Given the description of an element on the screen output the (x, y) to click on. 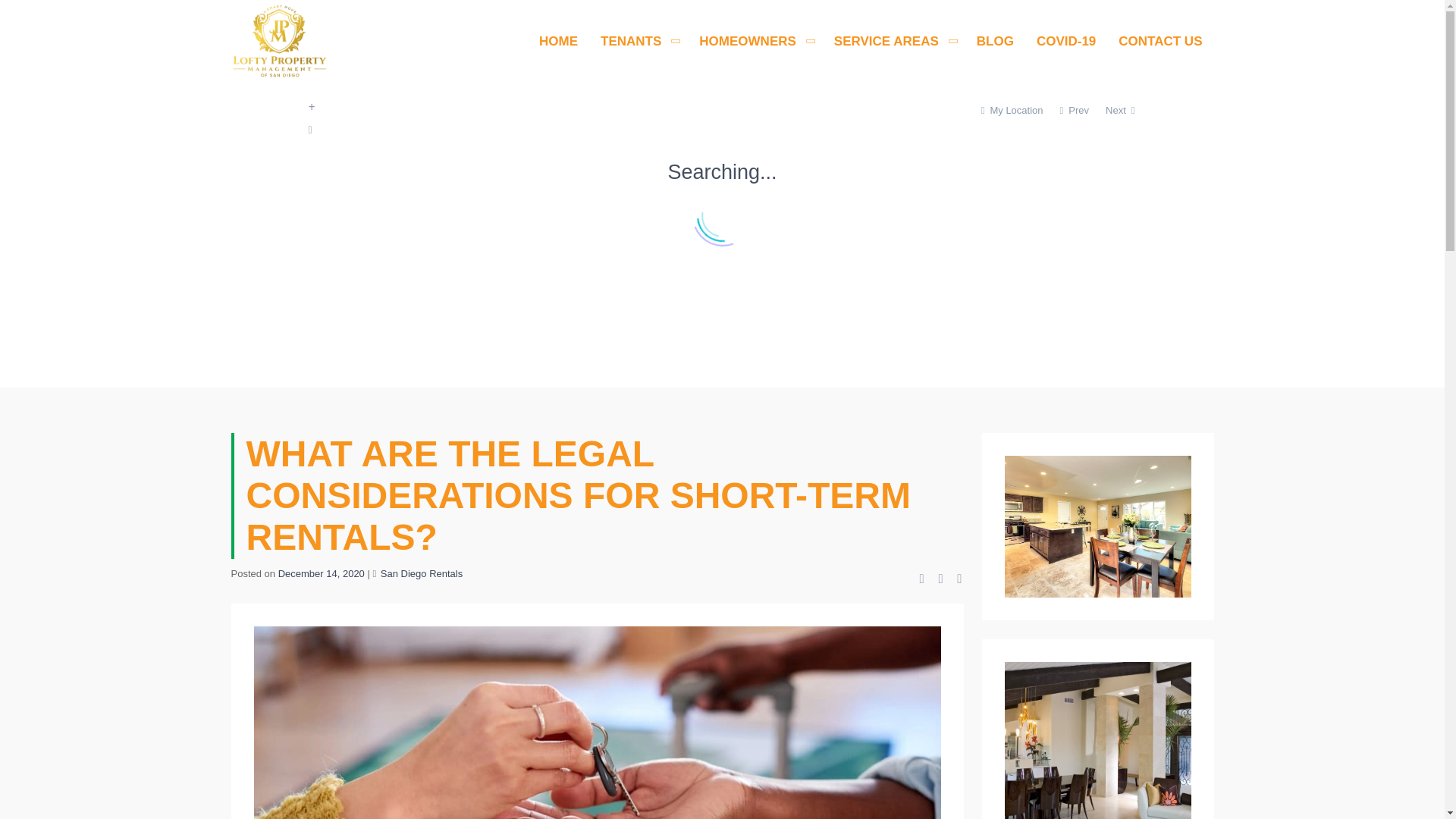
HOMEOWNERS (747, 41)
COVID-19 (1065, 41)
SERVICE AREAS (886, 41)
HOME (558, 41)
BLOG (995, 41)
TENANTS (630, 41)
